Given the description of an element on the screen output the (x, y) to click on. 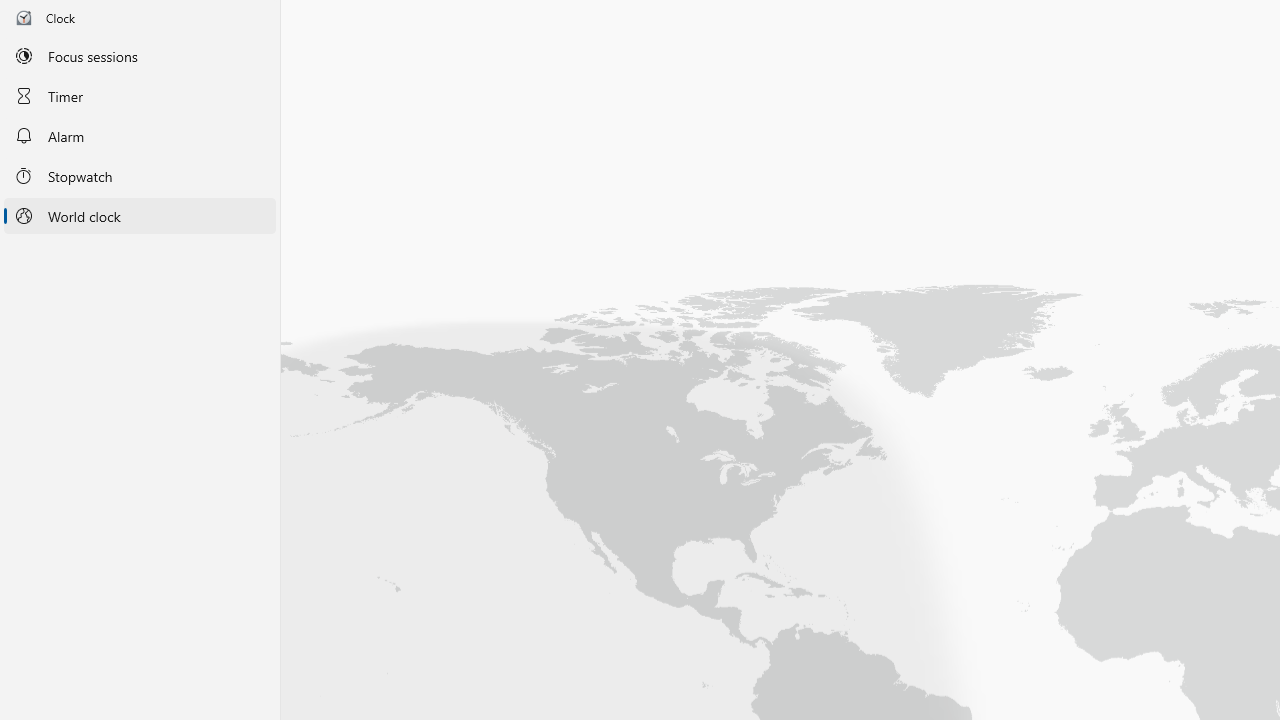
Timer (139, 95)
Alarm (139, 136)
Stopwatch (139, 175)
World clock (139, 216)
Focus sessions (139, 56)
